Given the description of an element on the screen output the (x, y) to click on. 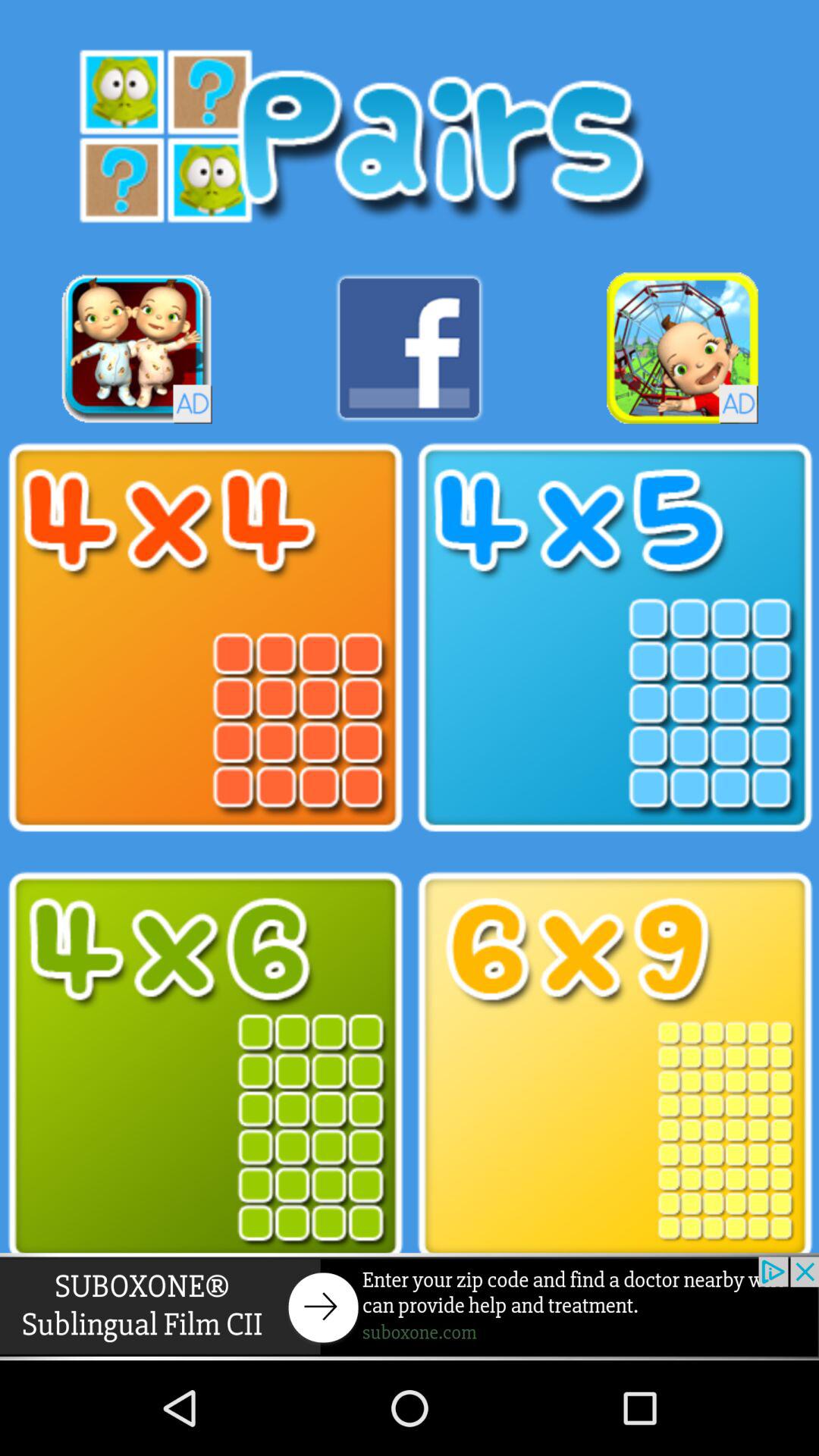
select size (614, 1066)
